Given the description of an element on the screen output the (x, y) to click on. 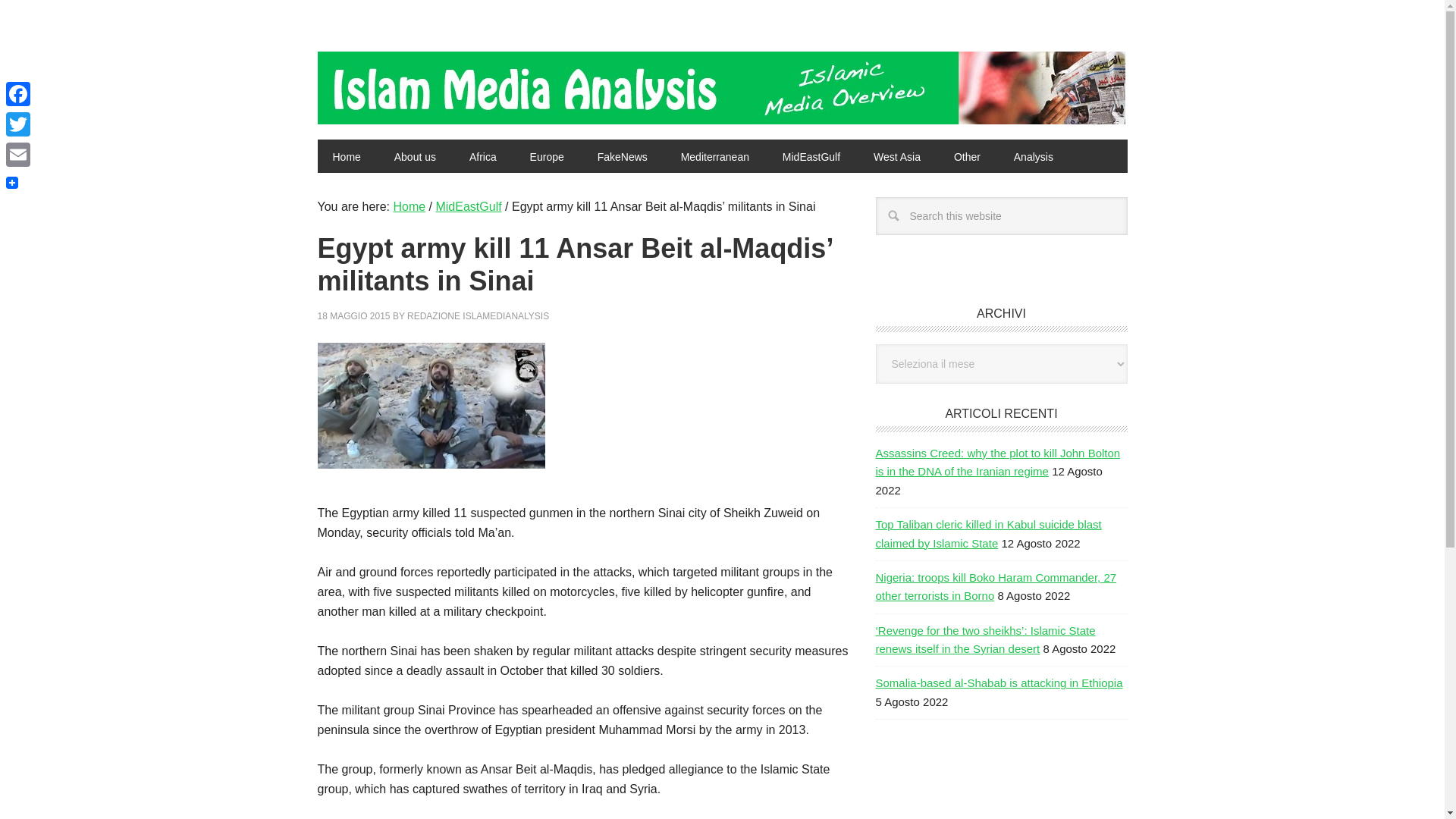
Home (346, 155)
Mediterranean (714, 155)
Africa (483, 155)
ISLAM MEDIA ANALYSIS (419, 81)
Other (967, 155)
Europe (547, 155)
West Asia (897, 155)
Somalia-based al-Shabab is attacking in Ethiopia (998, 682)
REDAZIONE ISLAMEDIANALYSIS (477, 316)
Email (17, 154)
Facebook (17, 93)
